Given the description of an element on the screen output the (x, y) to click on. 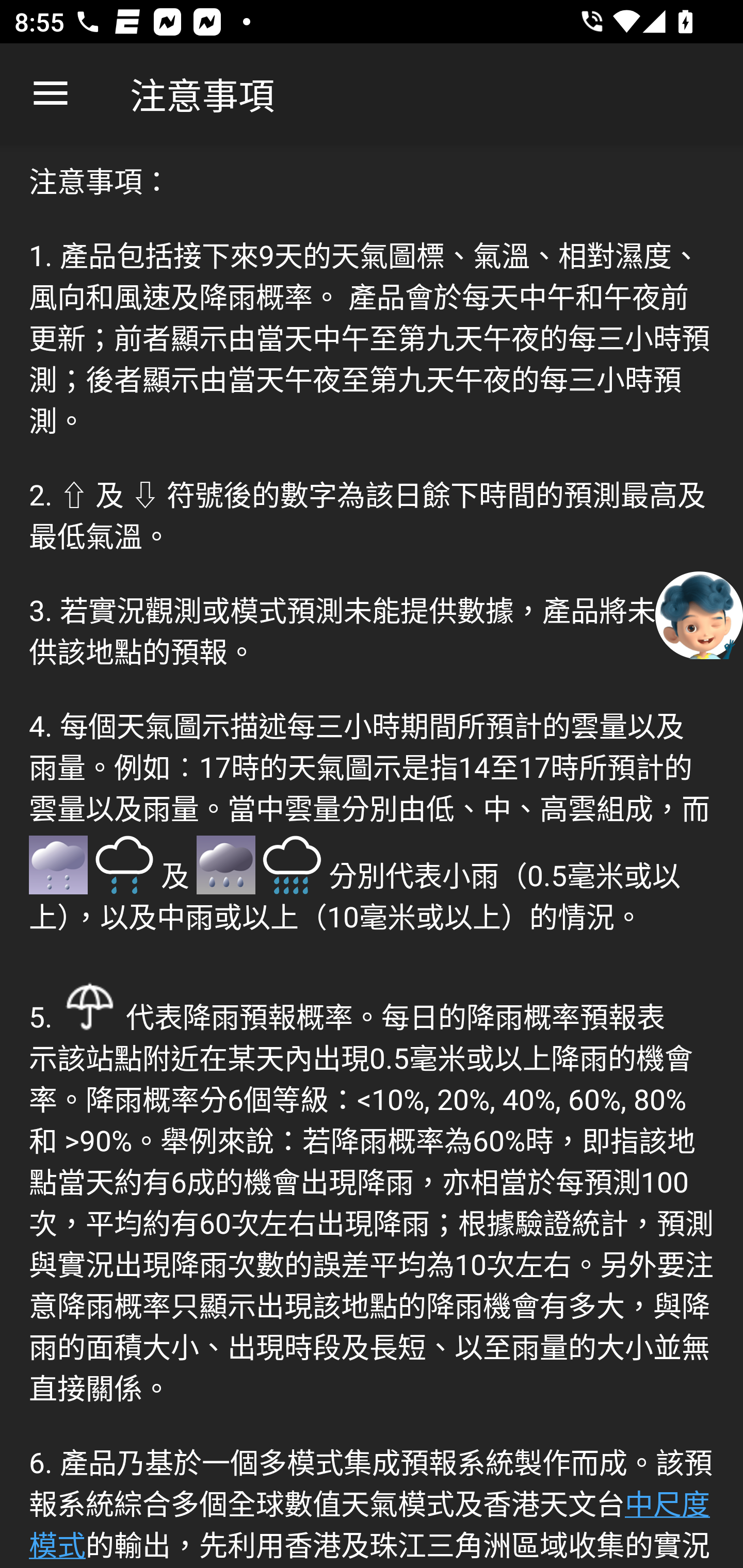
向上瀏覽 (50, 93)
聊天機械人 (699, 614)
